Given the description of an element on the screen output the (x, y) to click on. 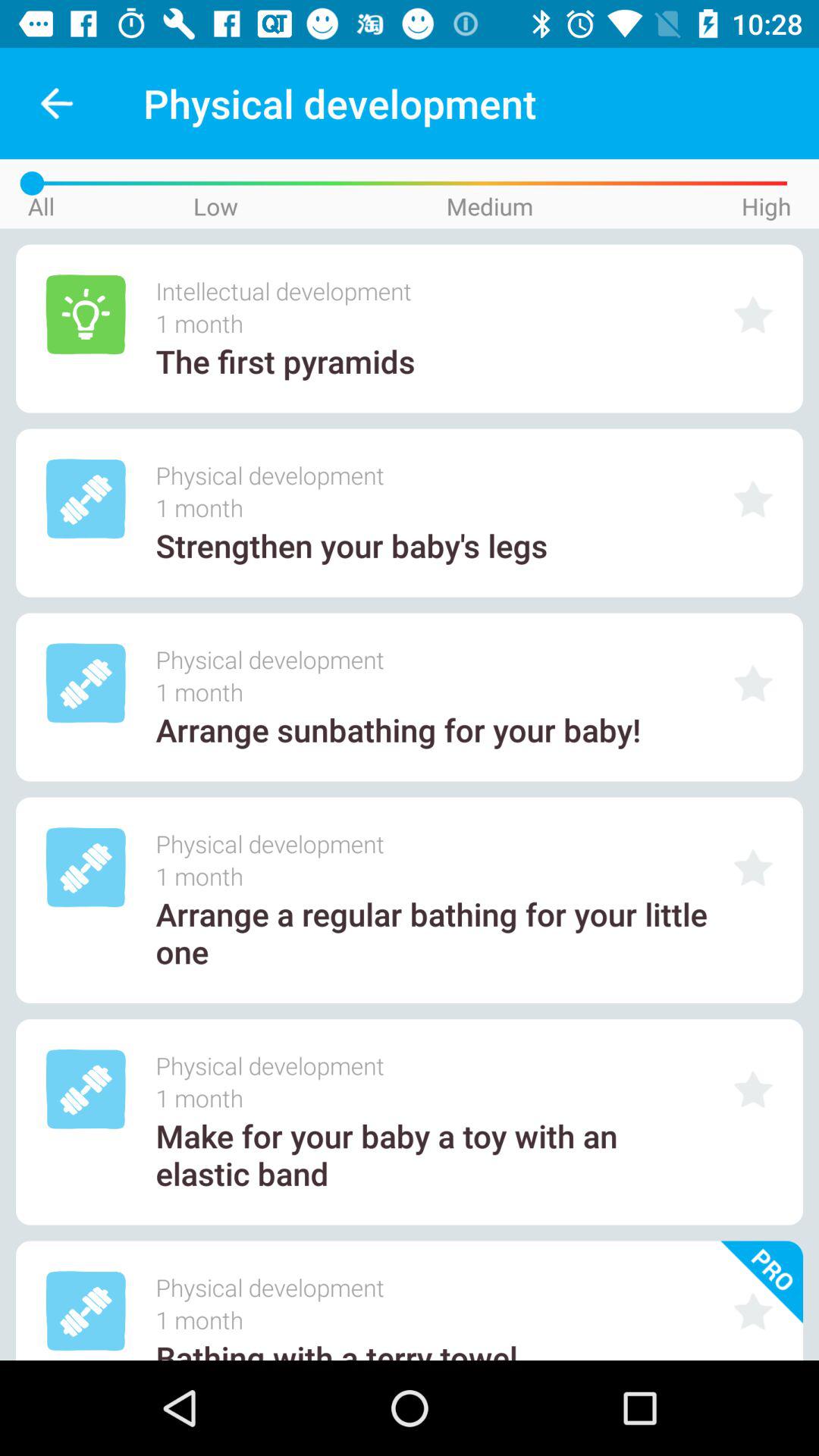
make it to favourite (753, 314)
